Given the description of an element on the screen output the (x, y) to click on. 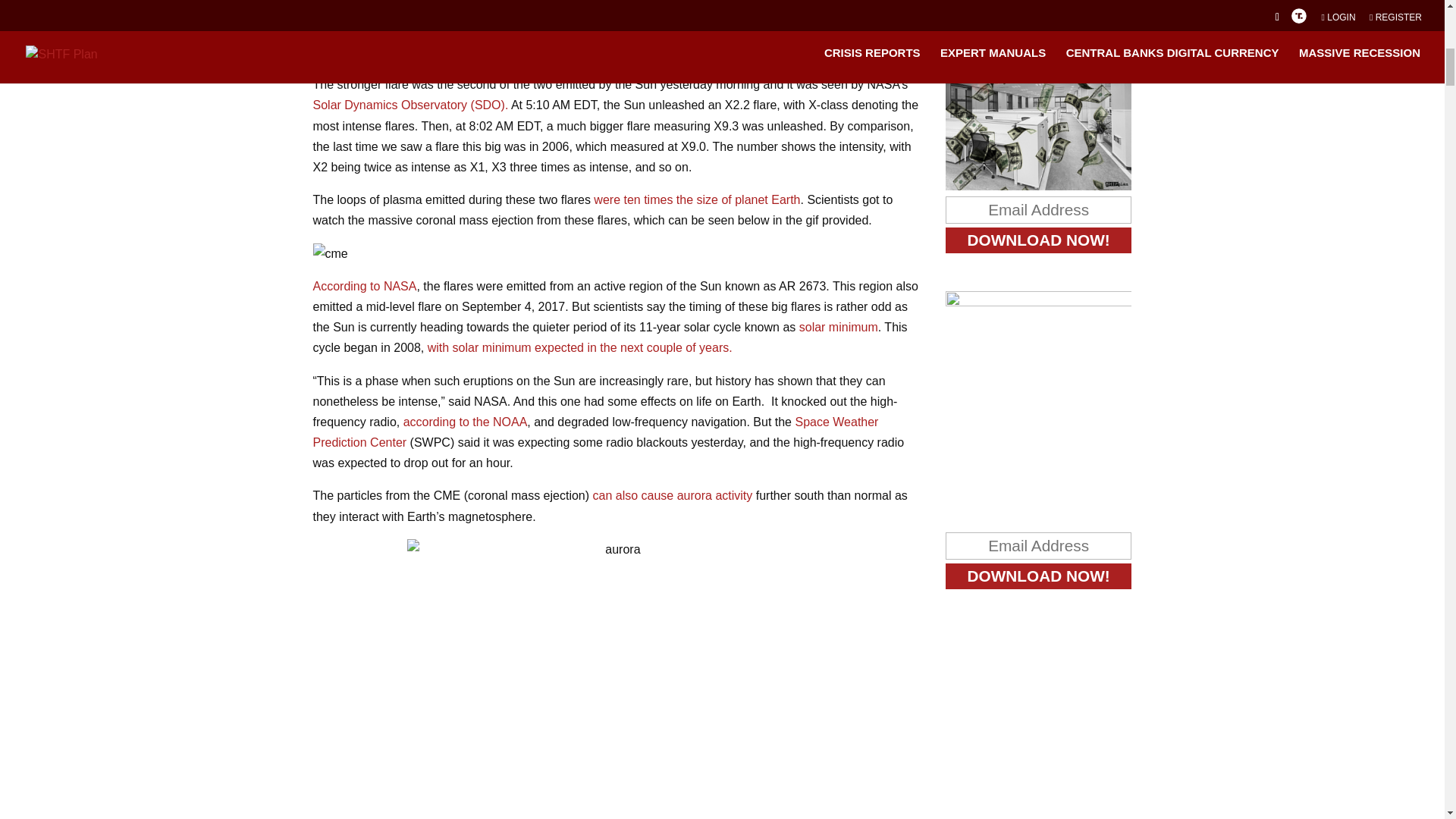
According to  (347, 286)
NASA (400, 286)
according to the NOAA (465, 421)
with solar minimum expected in the next couple of years. (580, 347)
solar minimum (838, 327)
Download Now! (1038, 575)
Download Now! (1038, 240)
can also cause aurora activity (672, 495)
Space Weather Prediction Center (595, 431)
